Given the description of an element on the screen output the (x, y) to click on. 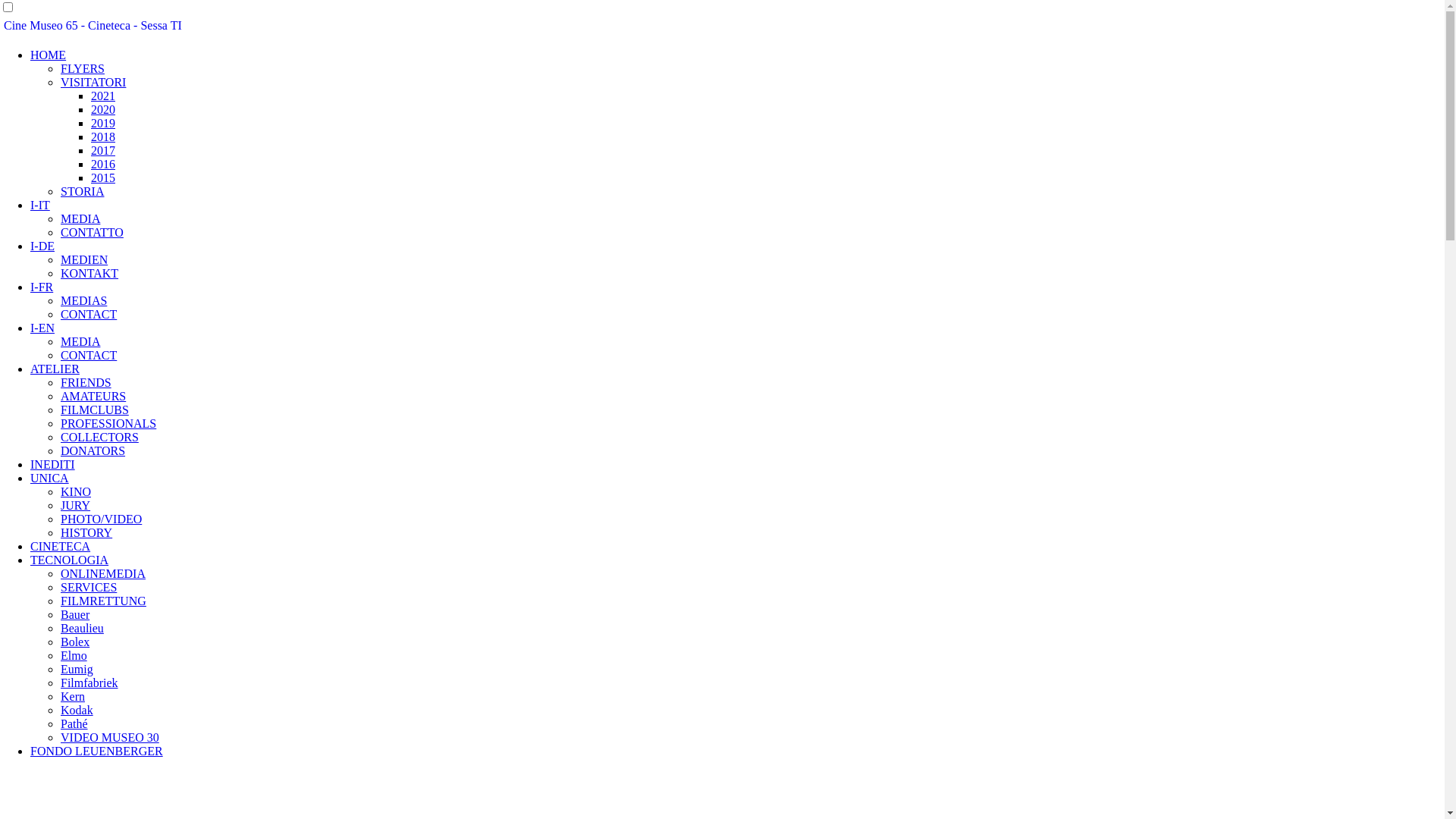
KONTAKT Element type: text (89, 272)
Cine Museo 65 - Cineteca - Sessa TI Element type: text (92, 24)
I-FR Element type: text (41, 286)
2019 Element type: text (103, 122)
2015 Element type: text (103, 177)
MEDIAS Element type: text (83, 300)
STORIA Element type: text (82, 191)
PHOTO/VIDEO Element type: text (100, 518)
CINETECA Element type: text (60, 545)
Beaulieu Element type: text (81, 627)
I-IT Element type: text (40, 204)
FLYERS Element type: text (82, 68)
2018 Element type: text (103, 136)
COLLECTORS Element type: text (99, 436)
CONTACT Element type: text (88, 313)
SERVICES Element type: text (88, 586)
DONATORS Element type: text (92, 450)
2021 Element type: text (103, 95)
AMATEURS Element type: text (92, 395)
PROFESSIONALS Element type: text (108, 423)
Eumig Element type: text (76, 668)
FILMCLUBS Element type: text (94, 409)
UNICA Element type: text (49, 477)
HISTORY Element type: text (86, 532)
INEDITI Element type: text (52, 464)
VIDEO MUSEO 30 Element type: text (109, 737)
FRIENDS Element type: text (85, 382)
MEDIEN Element type: text (83, 259)
Bauer Element type: text (74, 614)
I-EN Element type: text (42, 327)
Bolex Element type: text (74, 641)
TECNOLOGIA Element type: text (69, 559)
CONTATTO Element type: text (91, 231)
KINO Element type: text (75, 491)
FILMRETTUNG Element type: text (103, 600)
Kern Element type: text (72, 696)
2020 Element type: text (103, 109)
Filmfabriek Element type: text (89, 682)
MEDIA Element type: text (80, 218)
2016 Element type: text (103, 163)
ATELIER Element type: text (54, 368)
FONDO LEUENBERGER Element type: text (96, 750)
2017 Element type: text (103, 150)
Elmo Element type: text (73, 655)
I-DE Element type: text (42, 245)
VISITATORI Element type: text (92, 81)
HOME Element type: text (47, 54)
Kodak Element type: text (76, 709)
ONLINEMEDIA Element type: text (102, 573)
CONTACT Element type: text (88, 354)
JURY Element type: text (75, 504)
MEDIA Element type: text (80, 341)
